Given the description of an element on the screen output the (x, y) to click on. 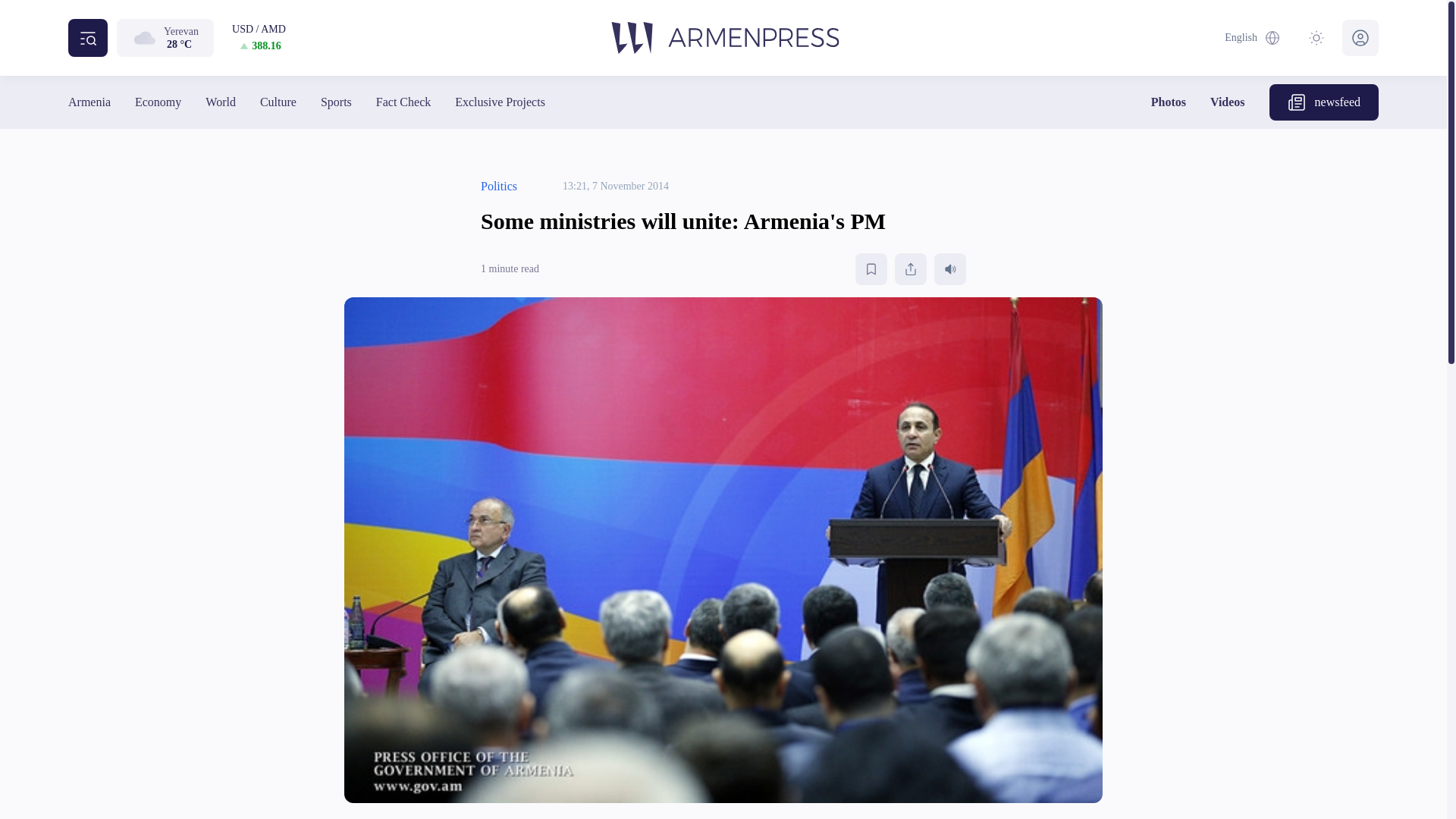
Photos (1168, 102)
Politics (498, 186)
newsfeed (1323, 102)
World (220, 102)
Fact Check (402, 102)
Armenia (89, 102)
Sports (336, 102)
Culture (278, 102)
Videos (1226, 102)
Exclusive Projects (499, 102)
